Given the description of an element on the screen output the (x, y) to click on. 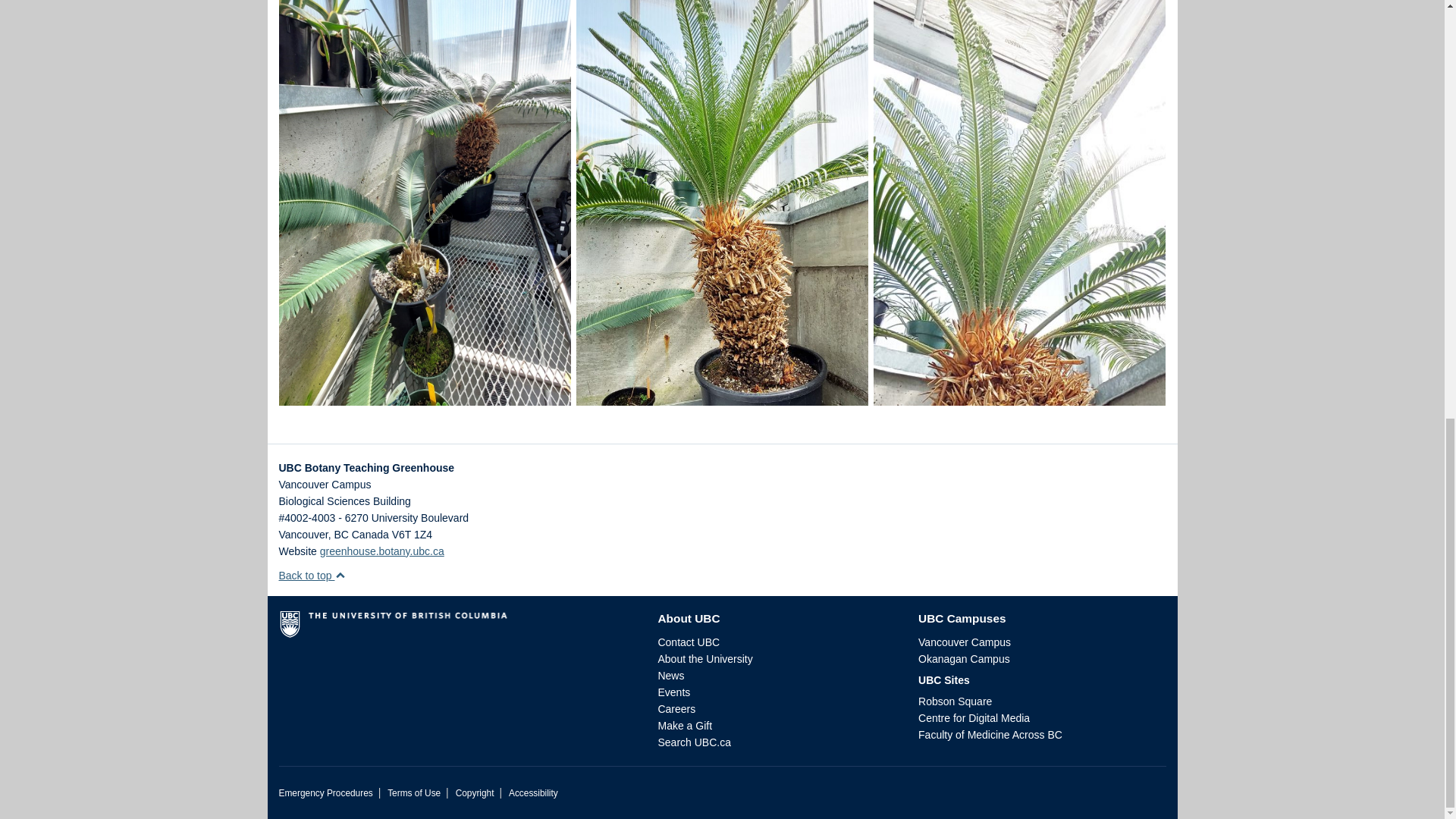
Terms of Use (414, 792)
Contact UBC (688, 642)
Events (674, 692)
Accessibility (532, 792)
Emergency Procedures (325, 792)
News (671, 675)
UBC Copyright (475, 792)
The University of British Columbia (456, 629)
greenhouse.botany.ubc.ca (382, 551)
Back to top (312, 575)
About the University (705, 658)
Back to top (312, 575)
